Given the description of an element on the screen output the (x, y) to click on. 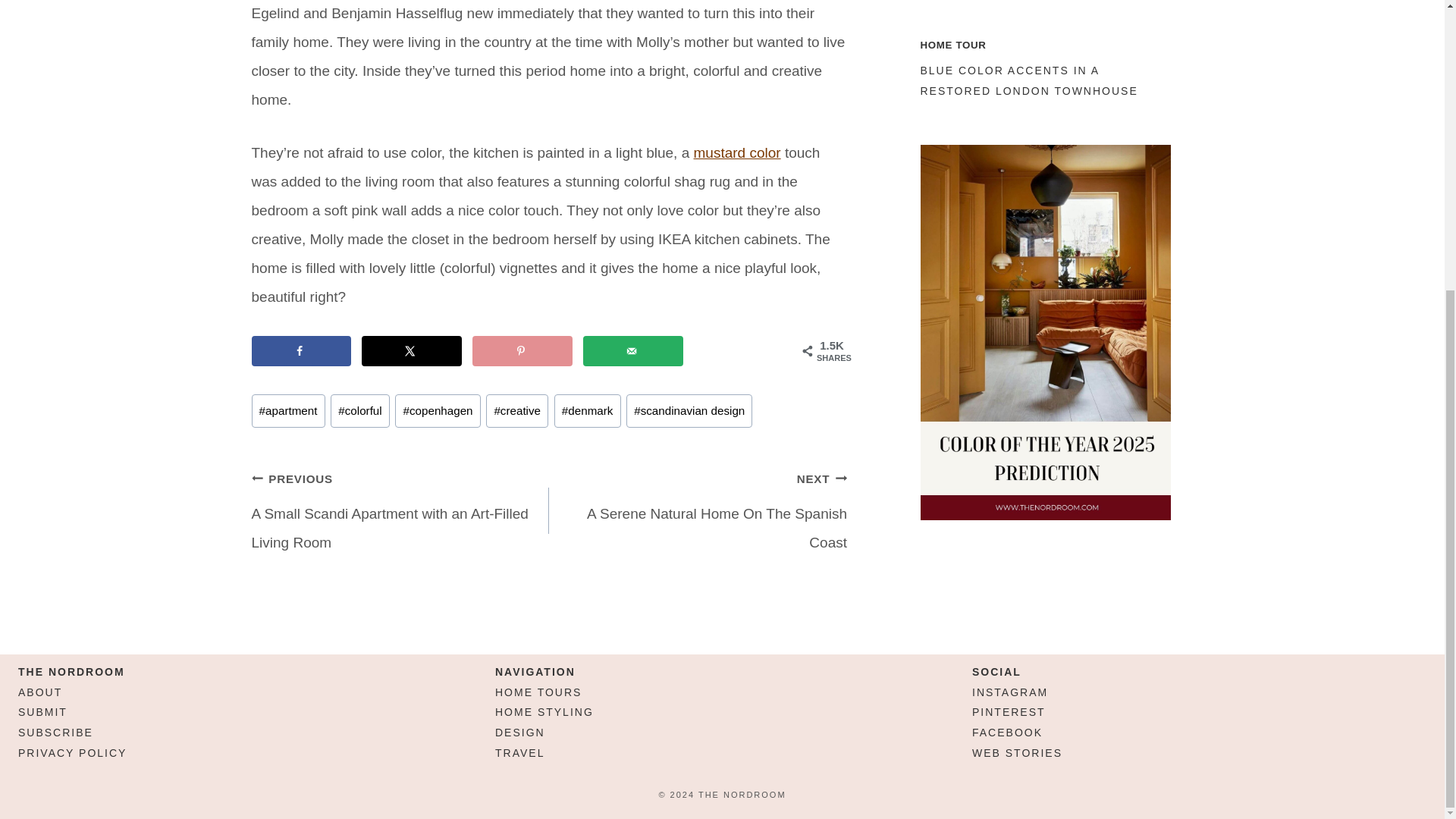
Send over email (632, 350)
copenhagen (437, 410)
Save to Pinterest (521, 350)
denmark (587, 410)
mustard color (737, 152)
colorful (360, 410)
Share on X (411, 350)
creative (517, 410)
Share on Facebook (301, 350)
apartment (287, 410)
